Given the description of an element on the screen output the (x, y) to click on. 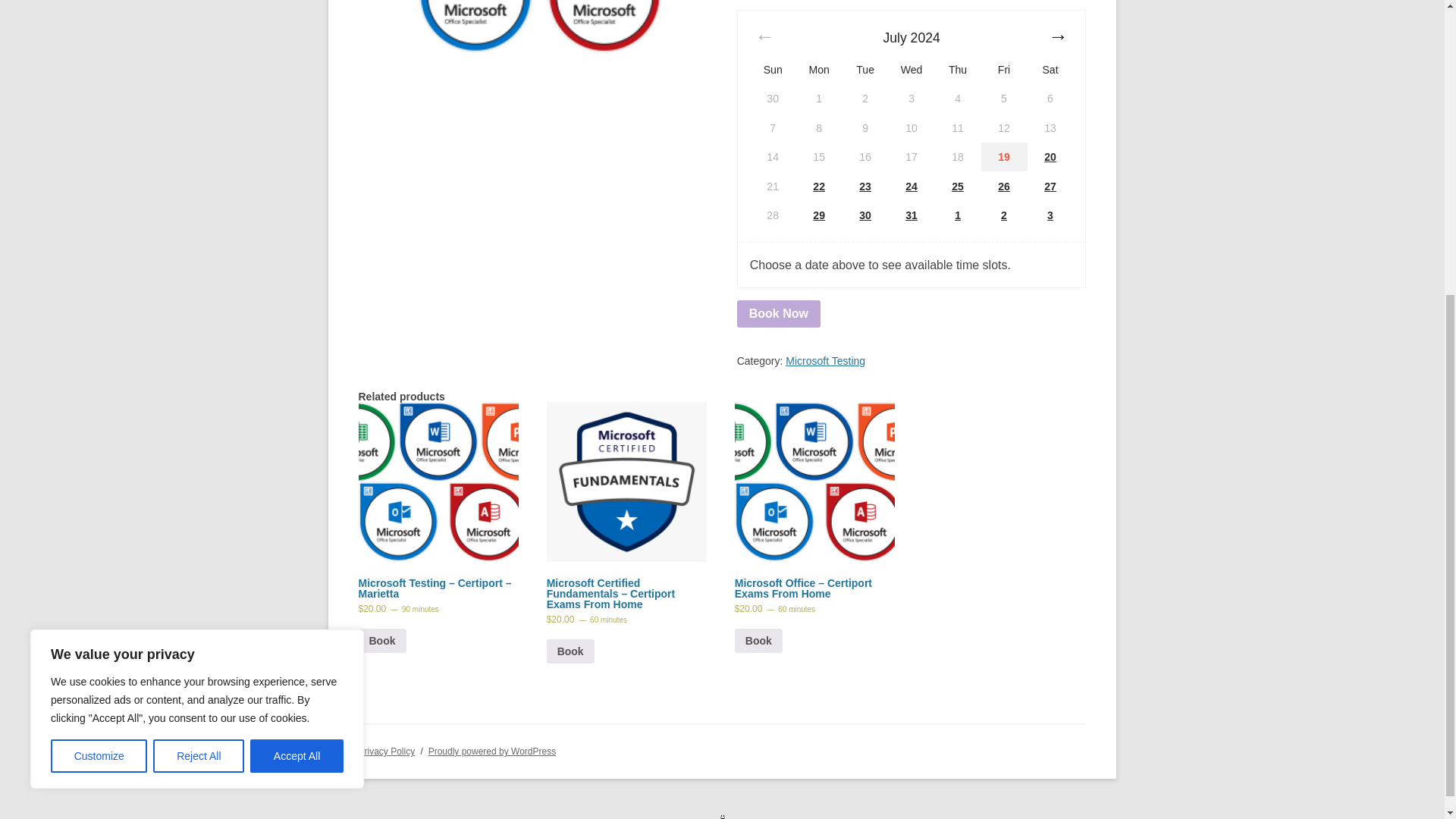
Selected date is unavailable (772, 98)
Customize (98, 291)
Monday (818, 69)
MOS-Office-Specialist-Badges-to-earn (532, 26)
Saturday (1050, 69)
Selected date is unavailable (819, 98)
Selected date is unavailable (865, 98)
Reject All (198, 291)
Selected date is unavailable (911, 98)
Tuesday (865, 69)
Selected date is unavailable (1004, 98)
Thursday (957, 69)
Next (1057, 37)
Selected date is unavailable (957, 98)
Wednesday (912, 69)
